Given the description of an element on the screen output the (x, y) to click on. 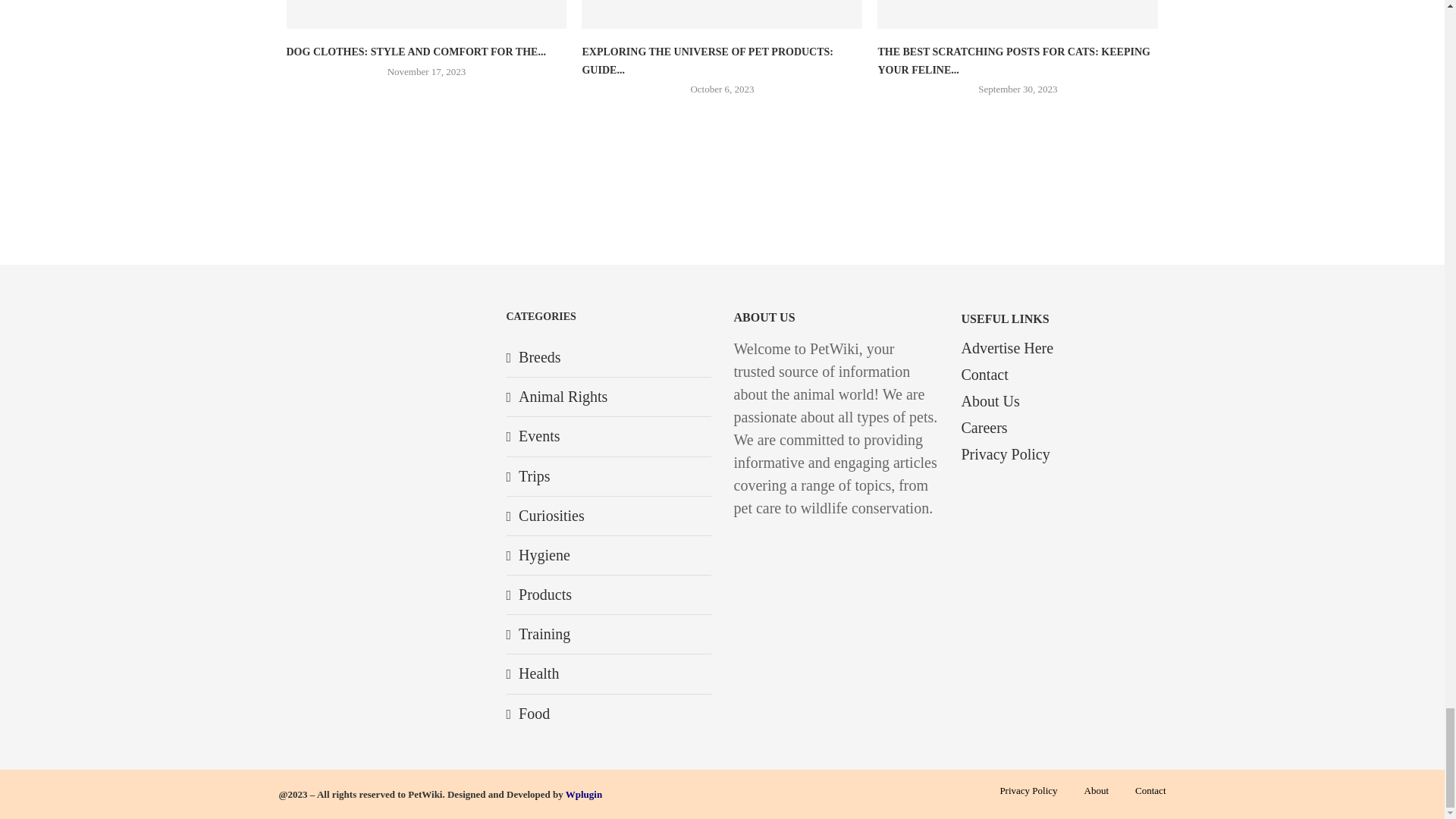
Dog clothes: style and comfort for your pet (426, 14)
